Given the description of an element on the screen output the (x, y) to click on. 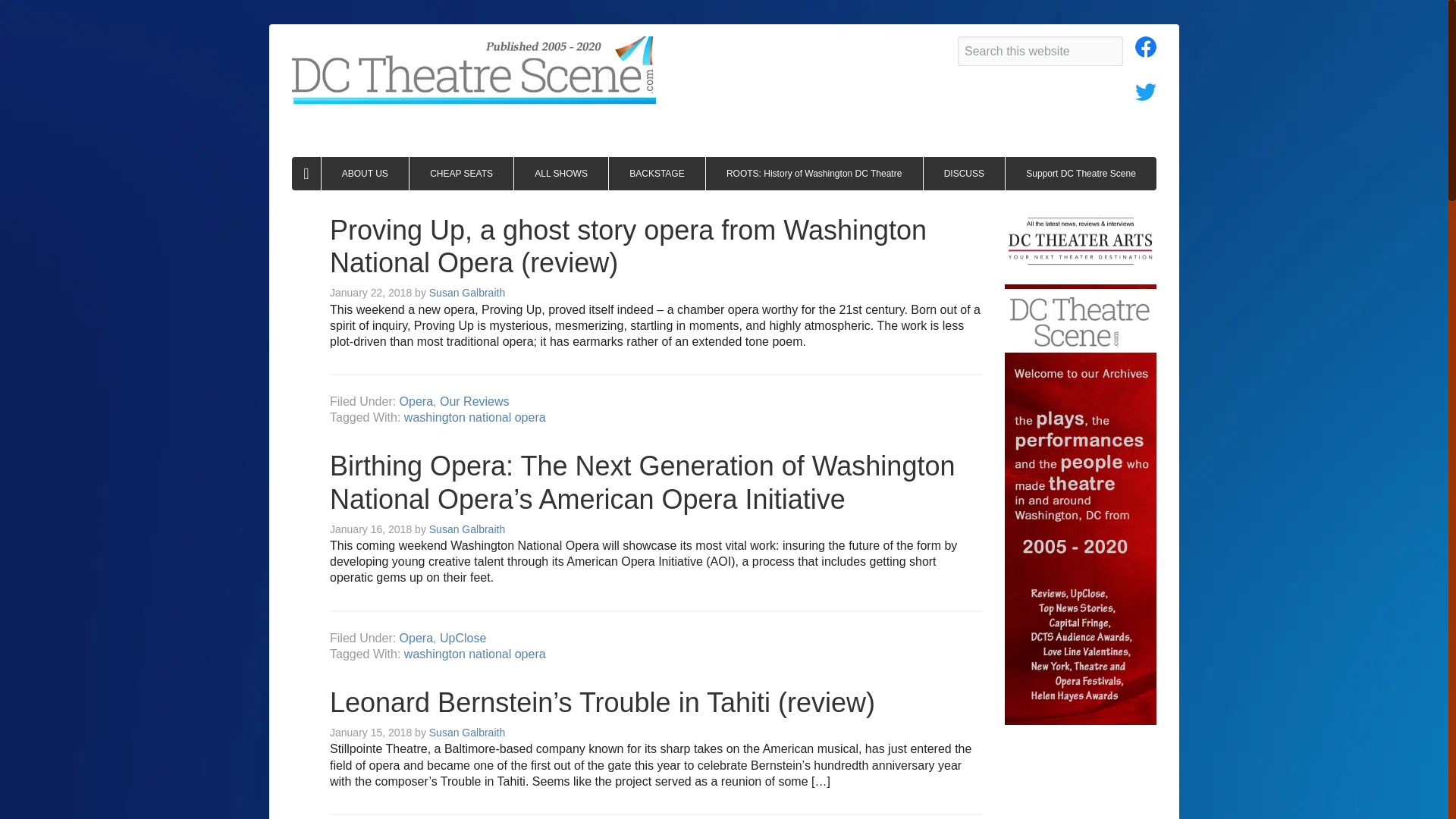
Support DC Theatre Scene (1081, 173)
ABOUT US (365, 173)
Susan Galbraith (467, 292)
Opera (415, 637)
Opera (415, 400)
BACKSTAGE (657, 173)
ROOTS: History of Washington DC Theatre (814, 173)
washington national opera (475, 417)
ALL SHOWS (560, 173)
UpClose (462, 637)
CHEAP SEATS (461, 173)
washington national opera (475, 653)
home (306, 173)
